Given the description of an element on the screen output the (x, y) to click on. 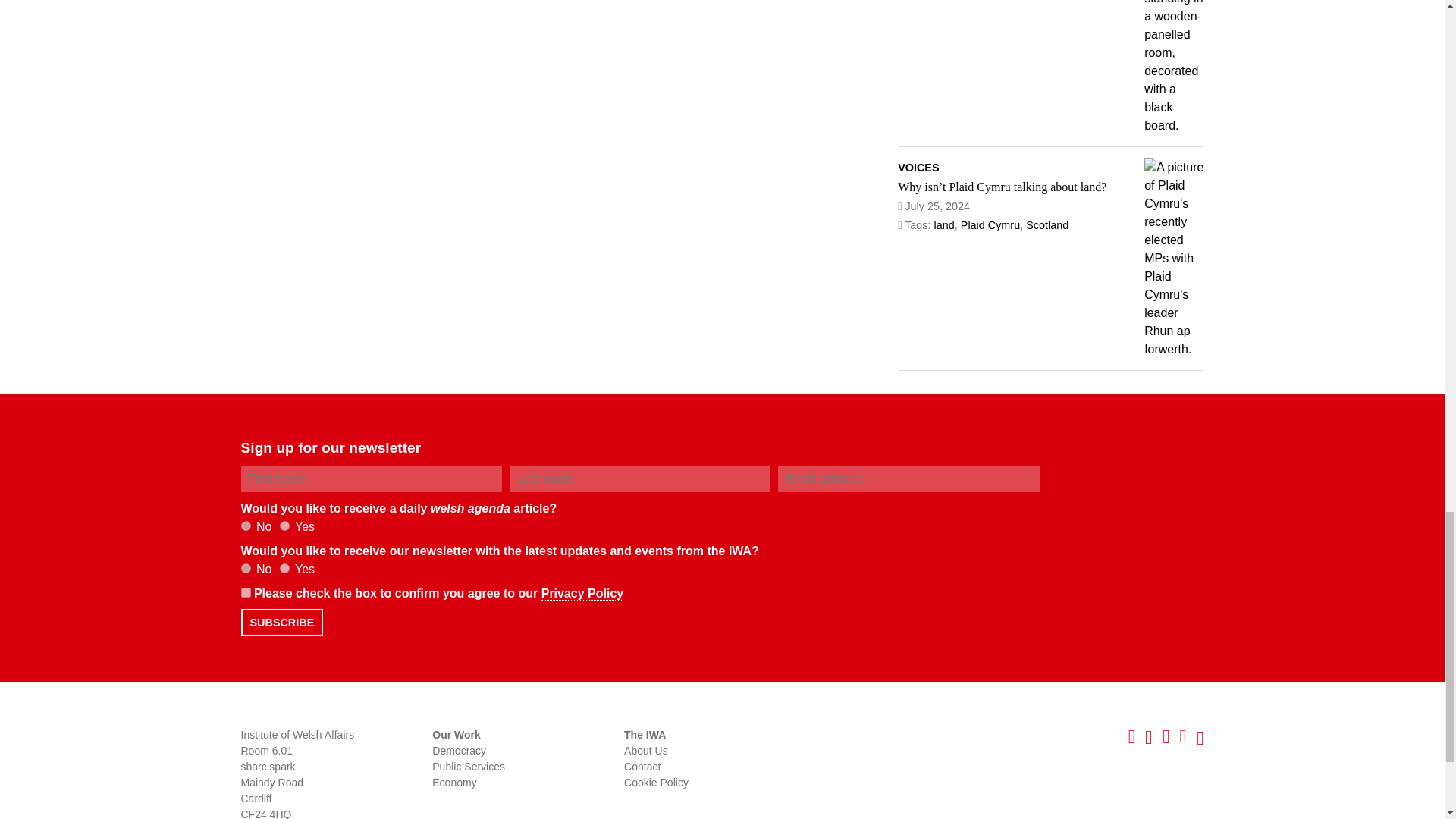
Yes (284, 525)
Yes (284, 568)
No (245, 525)
on (245, 592)
Subscribe (282, 622)
No (245, 568)
